Given the description of an element on the screen output the (x, y) to click on. 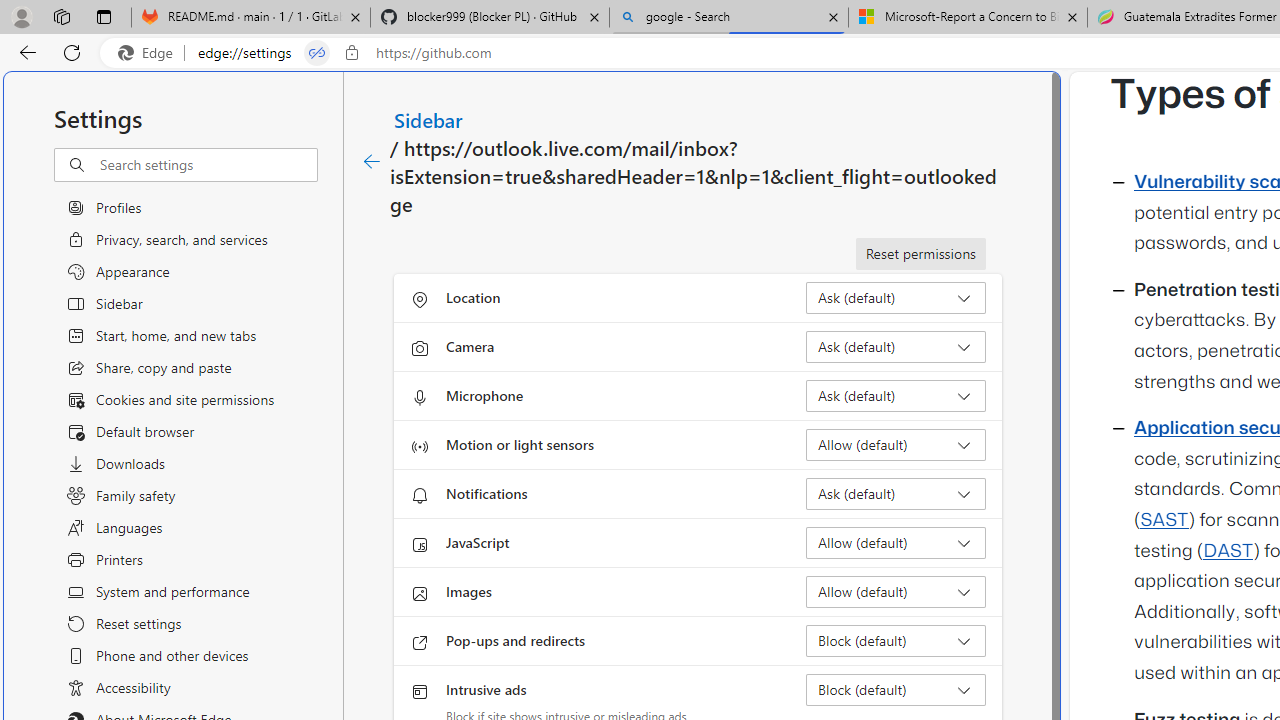
Edge (150, 53)
Go back to Sidebar page. (372, 162)
JavaScript Allow (default) (895, 542)
DAST (1228, 551)
Reset permissions (920, 254)
Location Ask (default) (895, 297)
Motion or light sensors Allow (default) (895, 444)
Microphone Ask (default) (895, 395)
